Given the description of an element on the screen output the (x, y) to click on. 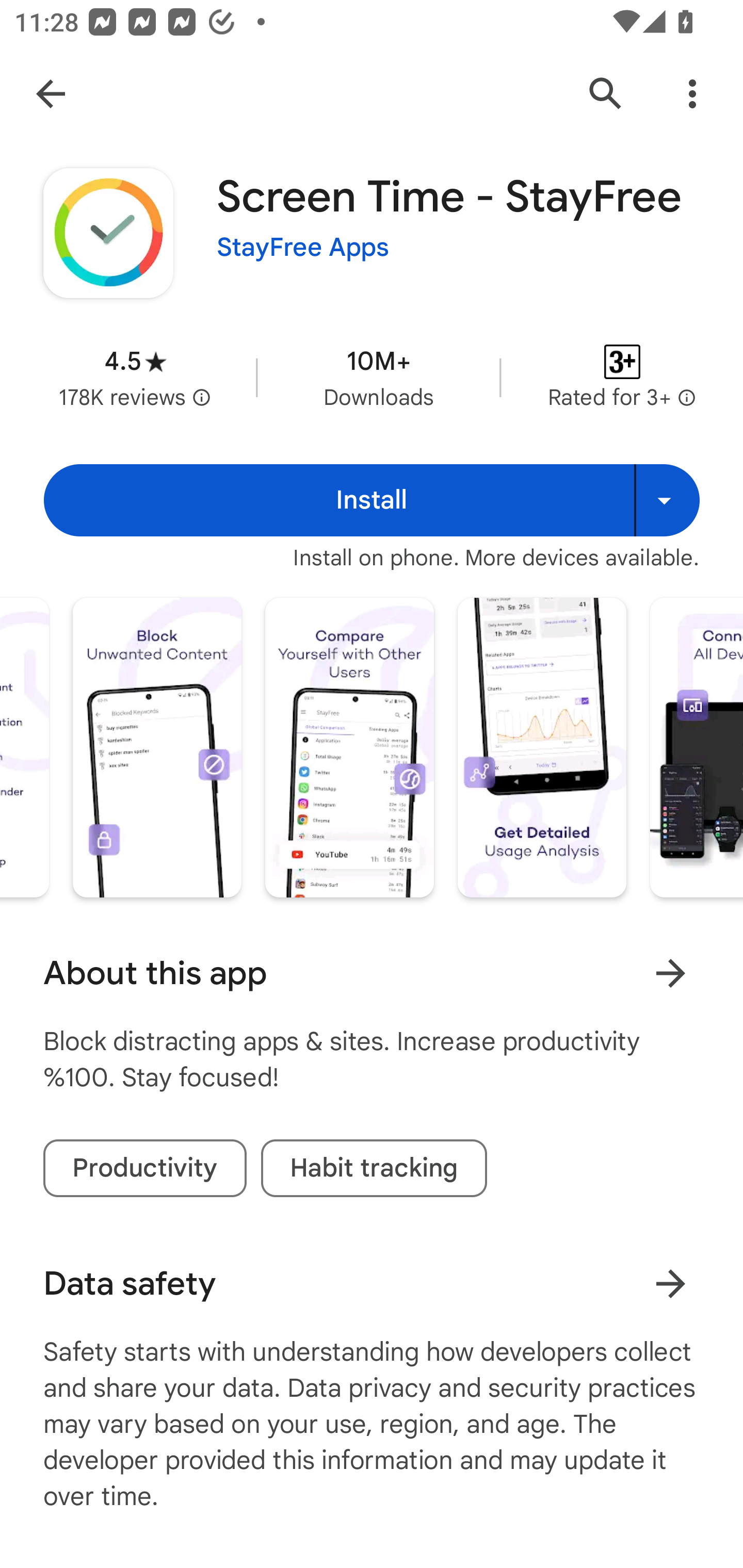
Navigate up (50, 93)
Search Google Play (605, 93)
More Options (692, 93)
StayFree Apps (302, 247)
Average rating 4.5 stars in 178 thousand reviews (135, 377)
Content rating Rated for 3+ (622, 377)
Install Install Install on more devices (371, 500)
Install on more devices (667, 500)
Screenshot "4" of "7" (156, 746)
Screenshot "5" of "7" (349, 746)
Screenshot "6" of "7" (541, 746)
About this app Learn more About this app (371, 972)
Learn more About this app (670, 972)
Productivity tag (144, 1168)
Habit tracking tag (373, 1168)
Data safety Learn more about data safety (371, 1284)
Learn more about data safety (670, 1283)
